Given the description of an element on the screen output the (x, y) to click on. 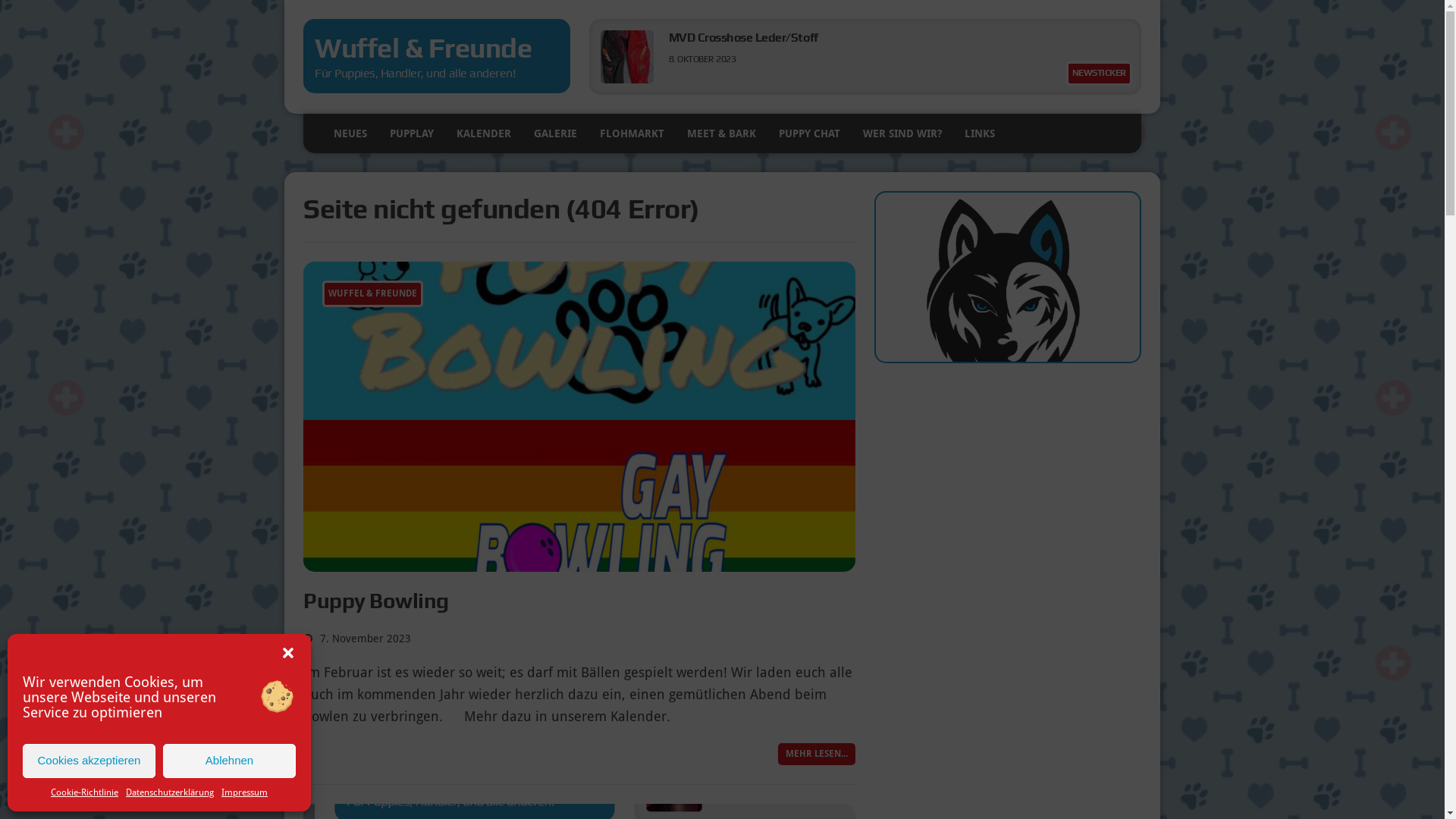
LINKS Element type: text (979, 133)
MEET & BARK Element type: text (721, 133)
Puppy Bowling Element type: hover (579, 560)
MVD Crosshose Leder/Stoff Element type: text (743, 37)
MVD Crosshose Leder/Stoff Element type: hover (626, 78)
Puppy Bowling Element type: text (375, 600)
Cookies akzeptieren Element type: text (88, 760)
FLOHMARKT Element type: text (631, 133)
Ablehnen Element type: text (229, 760)
PUPPY CHAT Element type: text (809, 133)
GALERIE Element type: text (555, 133)
Impressum Element type: text (244, 792)
WER SIND WIR? Element type: text (902, 133)
NEUES Element type: text (350, 133)
PUPPLAY Element type: text (411, 133)
MEHR LESEN... Element type: text (816, 753)
Cookie-Richtlinie Element type: text (84, 792)
Das alles kannst du! Element type: text (723, 37)
KALENDER Element type: text (483, 133)
